Given the description of an element on the screen output the (x, y) to click on. 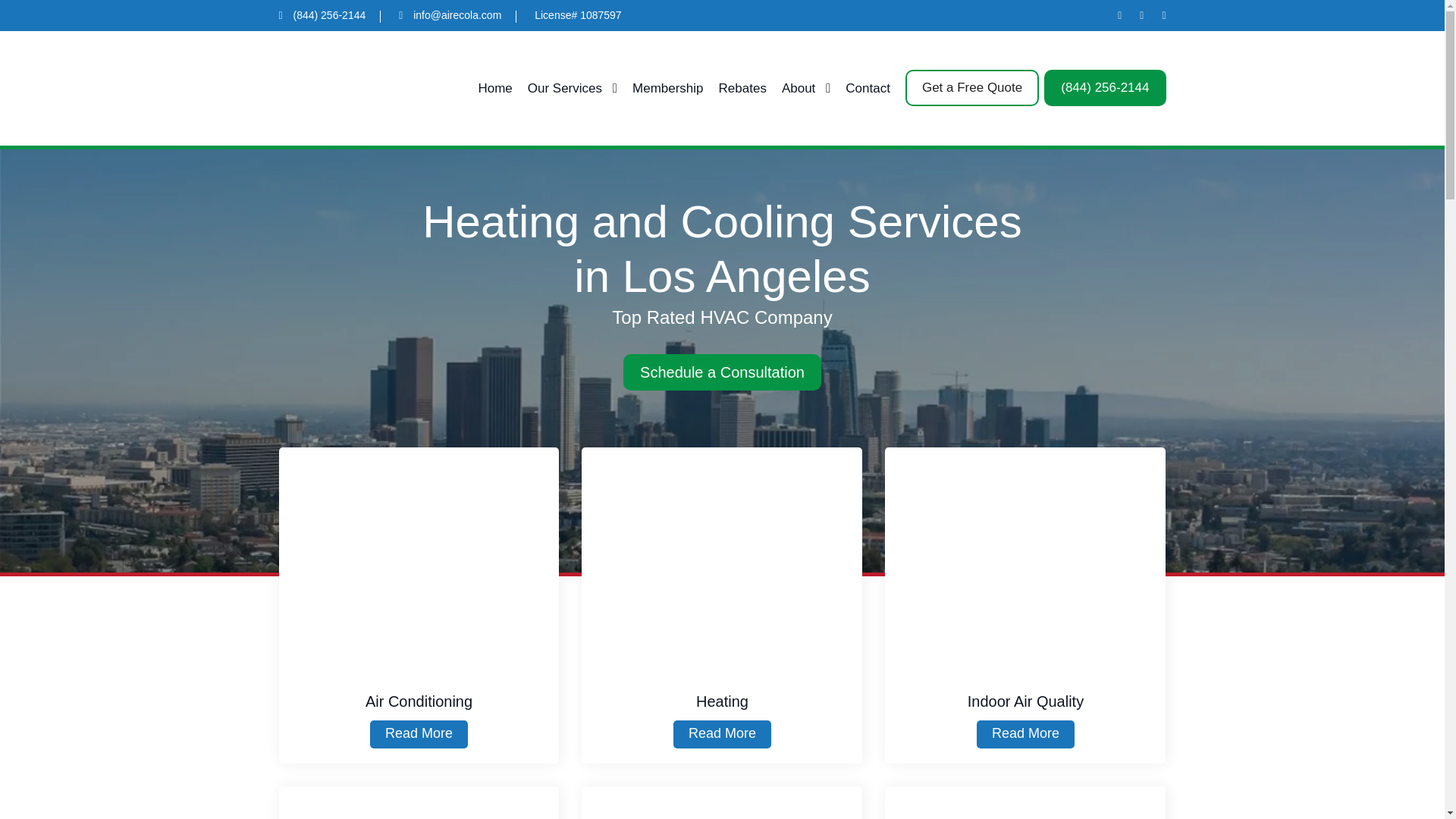
Our Services (572, 88)
Rebates (21, 152)
Indoor Air Quality (1025, 560)
Air Conditioning (419, 560)
Water Heaters (419, 802)
Rebates (743, 88)
About (805, 88)
Home (494, 88)
Maintenance (720, 802)
Membership (667, 88)
Heating (720, 560)
Insulation (1025, 802)
